Given the description of an element on the screen output the (x, y) to click on. 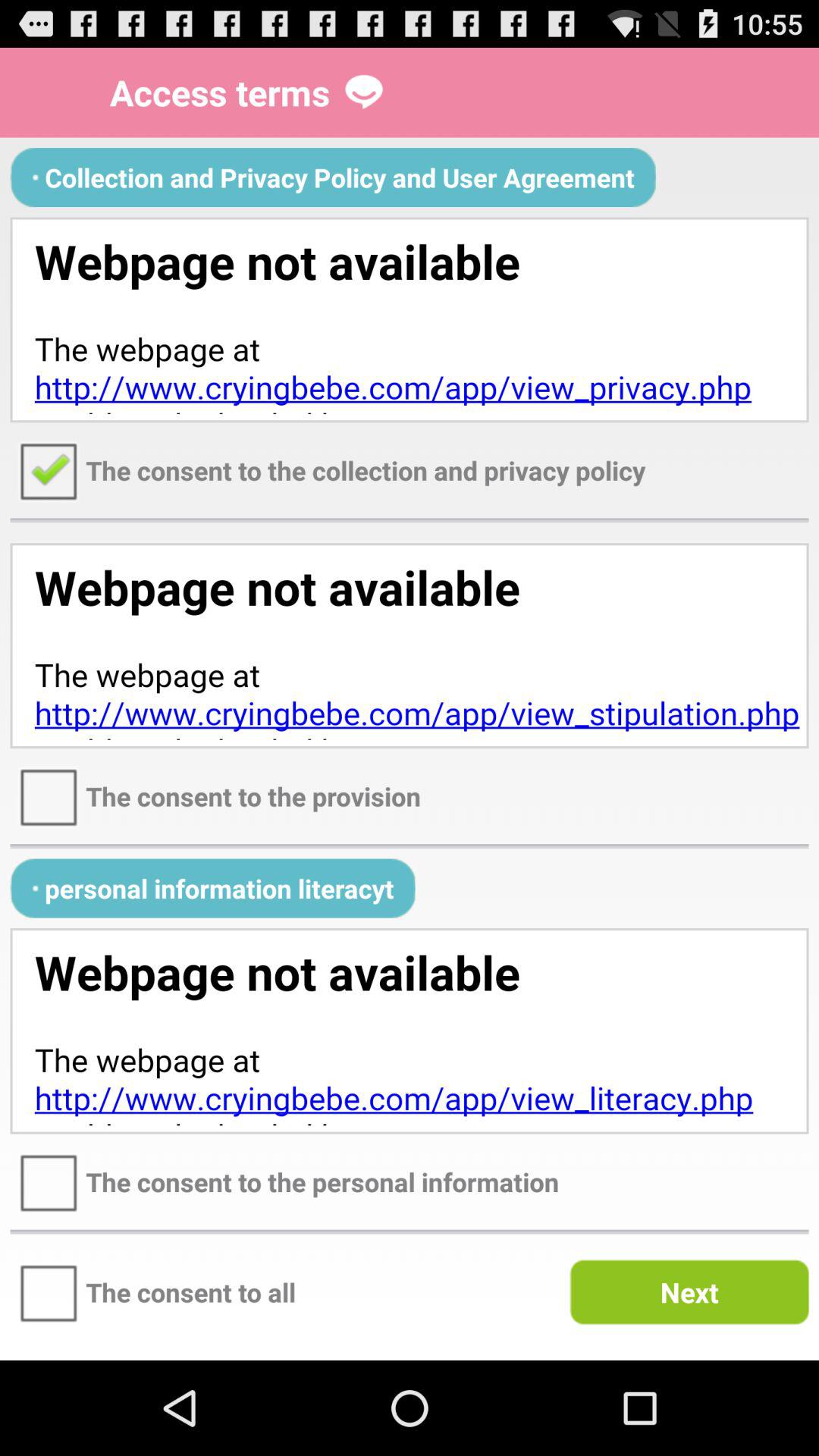
click the link (409, 319)
